Given the description of an element on the screen output the (x, y) to click on. 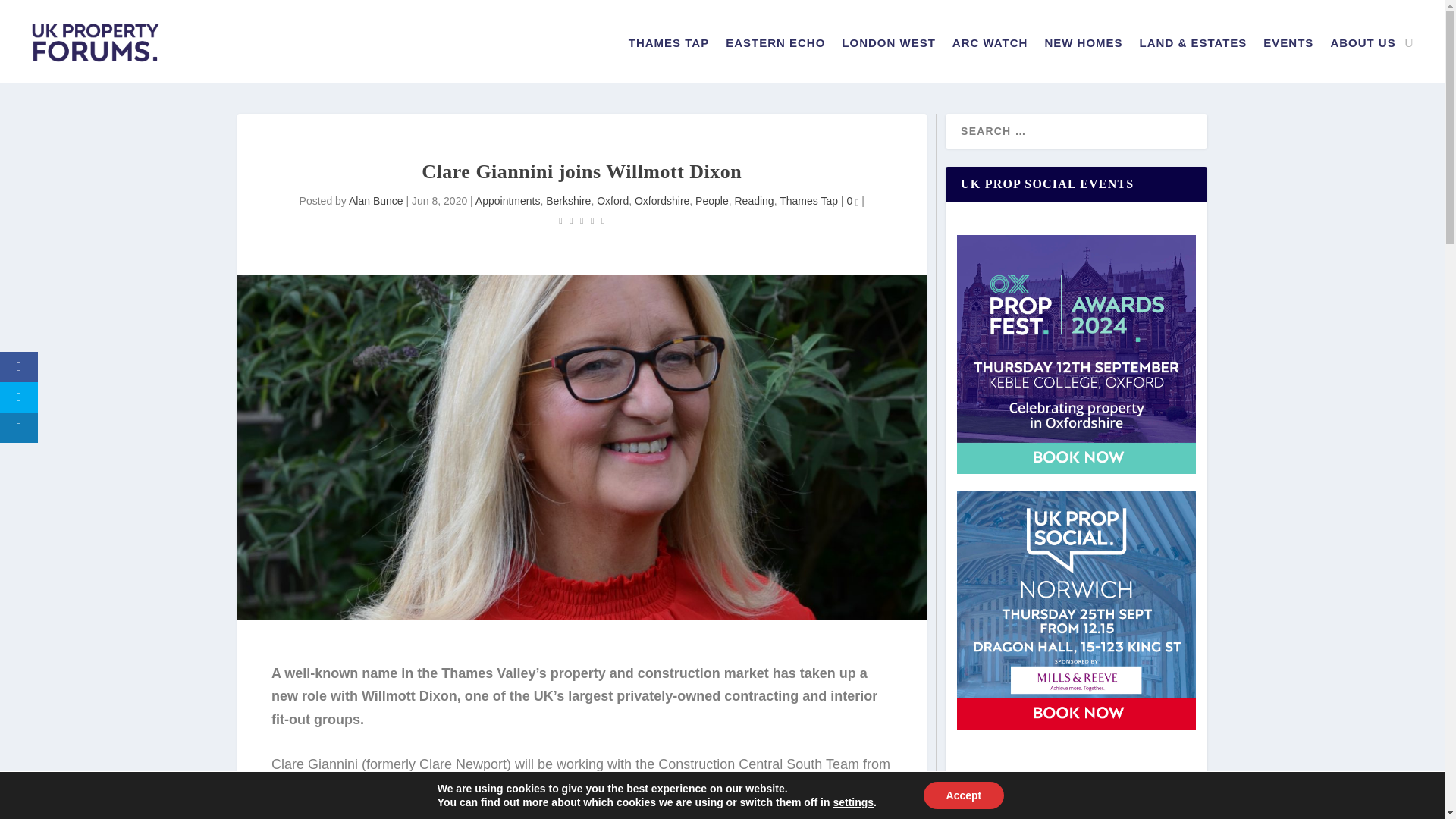
EASTERN ECHO (775, 45)
LONDON WEST (888, 45)
THAMES TAP (668, 45)
